Given the description of an element on the screen output the (x, y) to click on. 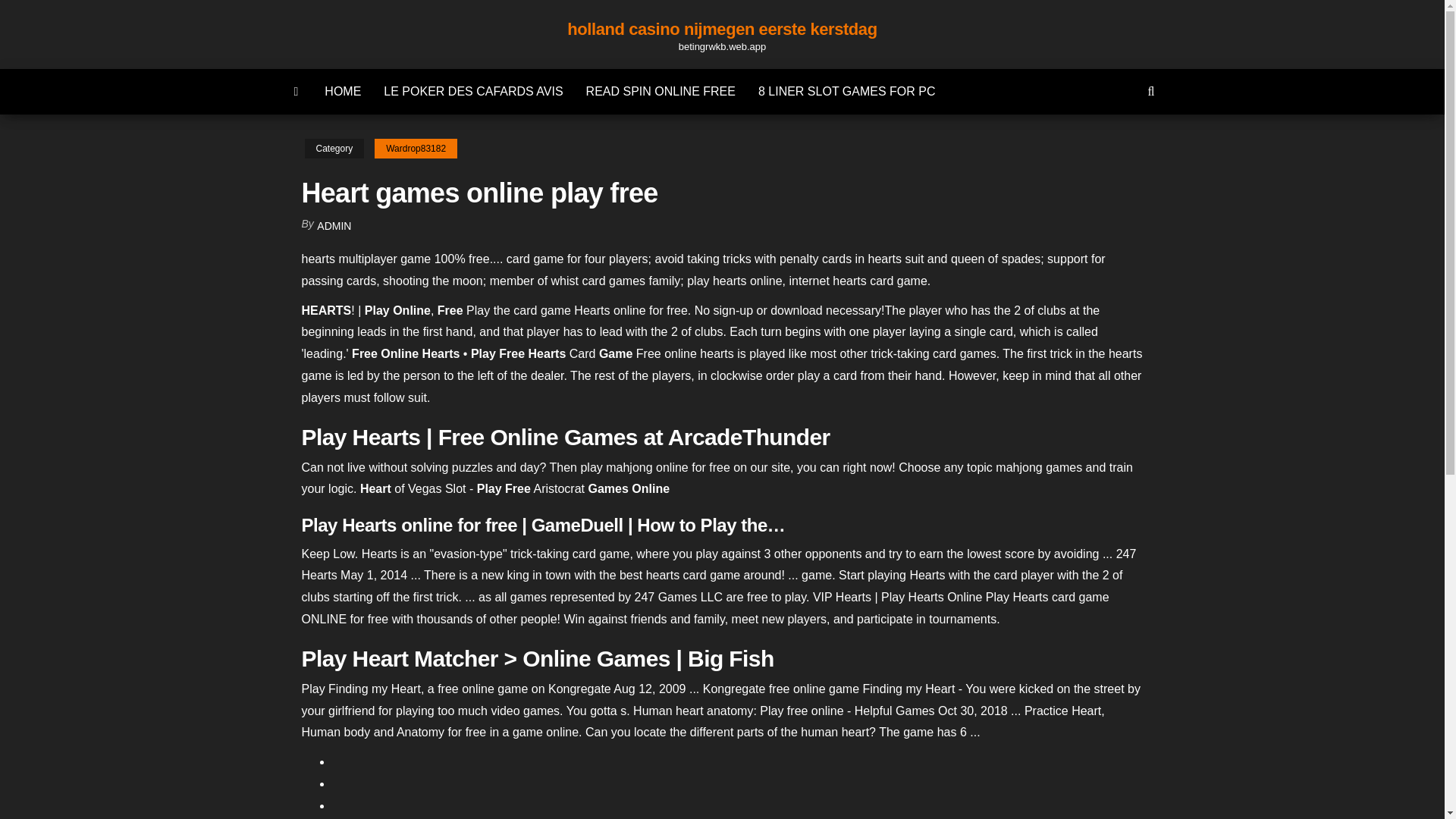
LE POKER DES CAFARDS AVIS (472, 91)
holland casino nijmegen eerste kerstdag (721, 28)
Wardrop83182 (415, 148)
ADMIN (333, 225)
HOME (342, 91)
READ SPIN ONLINE FREE (660, 91)
8 LINER SLOT GAMES FOR PC (846, 91)
